Given the description of an element on the screen output the (x, y) to click on. 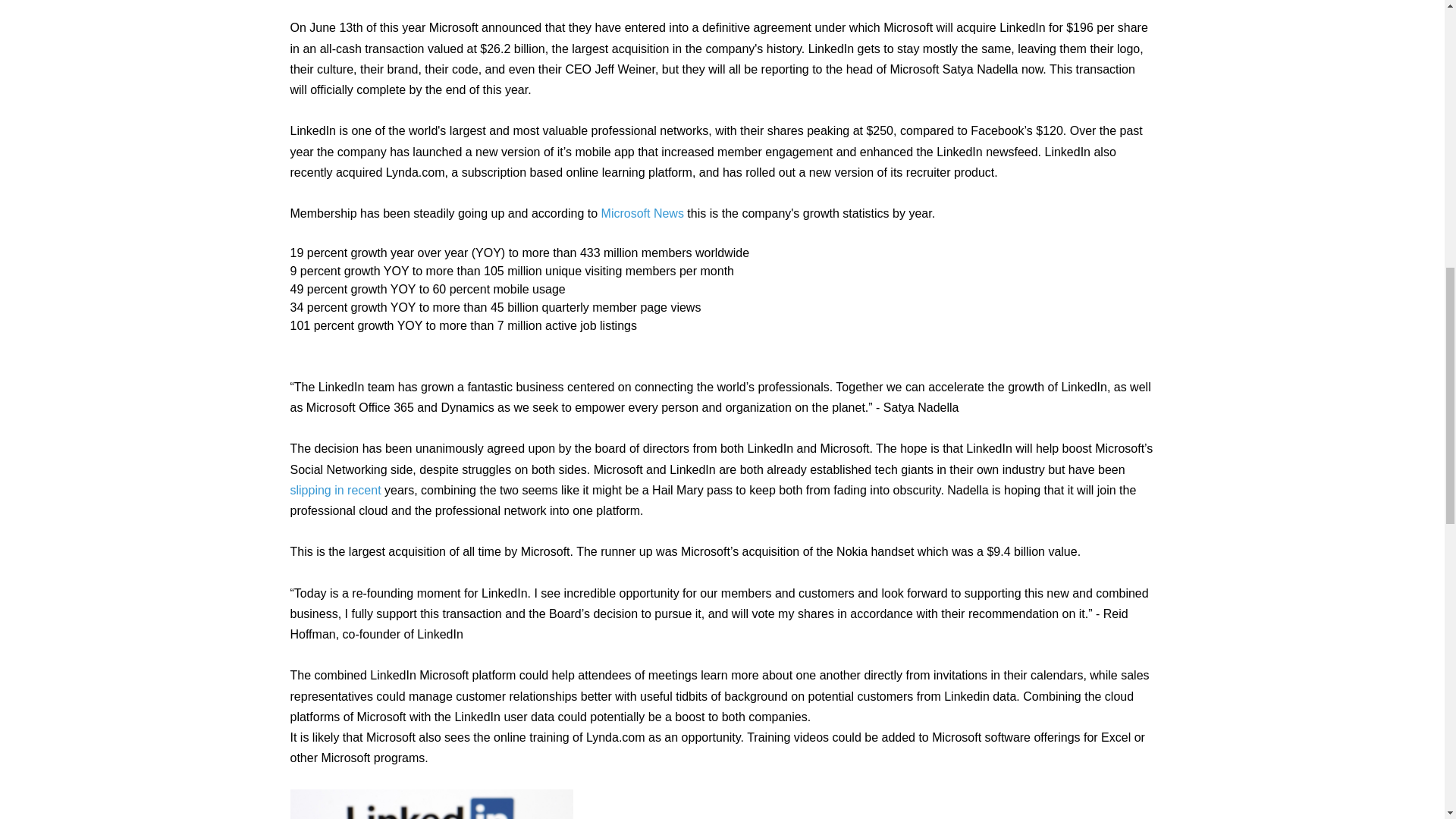
slipping (309, 490)
Microsoft News (642, 213)
in recent (357, 490)
